Given the description of an element on the screen output the (x, y) to click on. 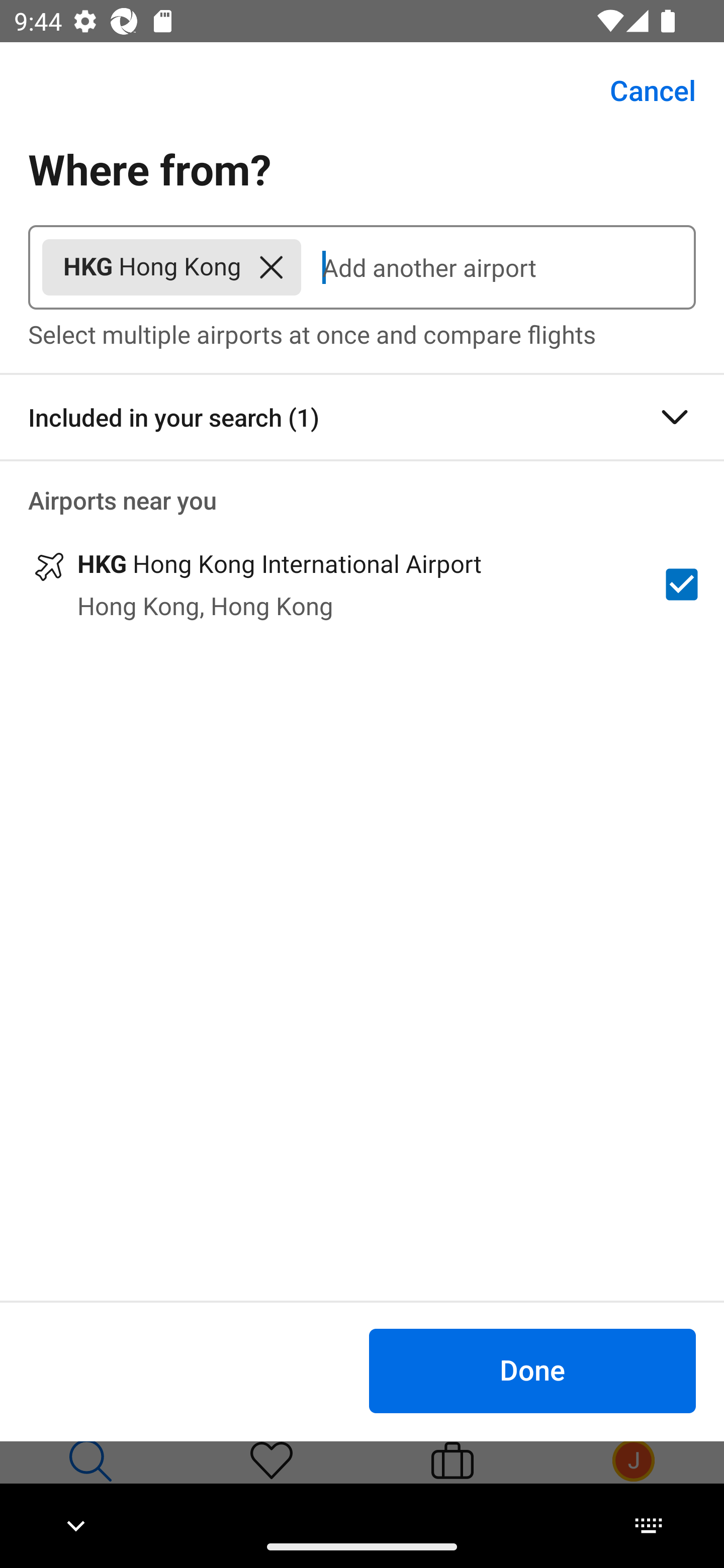
Cancel (641, 90)
Add another airport (498, 266)
HKG Hong Kong Remove HKG Hong Kong (171, 266)
Included in your search (1) (362, 416)
Done (532, 1370)
